Given the description of an element on the screen output the (x, y) to click on. 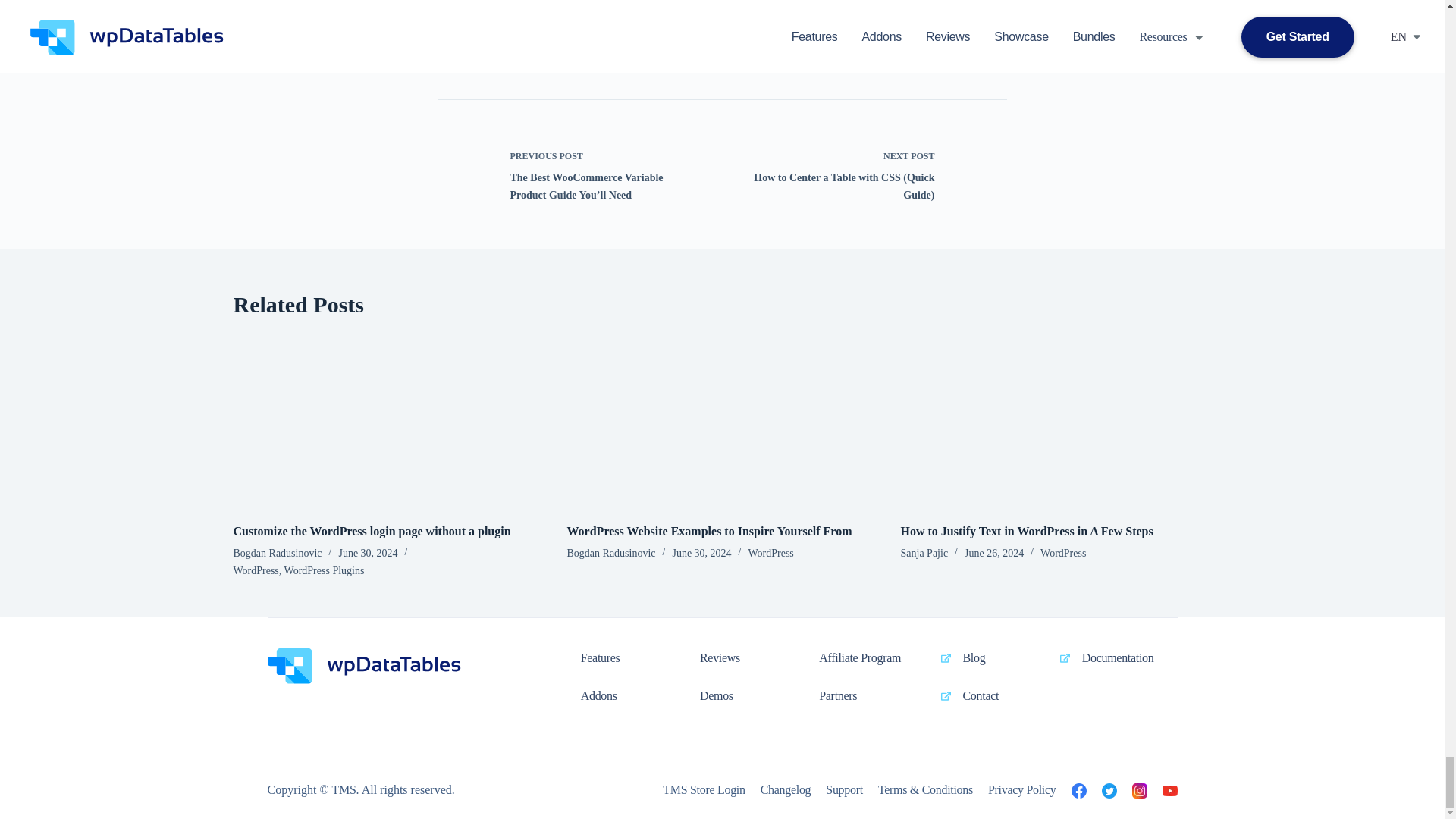
Posts by Bogdan Radusinovic (276, 552)
Posts by Sanja Pajic (925, 552)
Changelog (785, 790)
Changelog (844, 790)
TMS Store Login (703, 790)
Posts by Bogdan Radusinovic (611, 552)
